Given the description of an element on the screen output the (x, y) to click on. 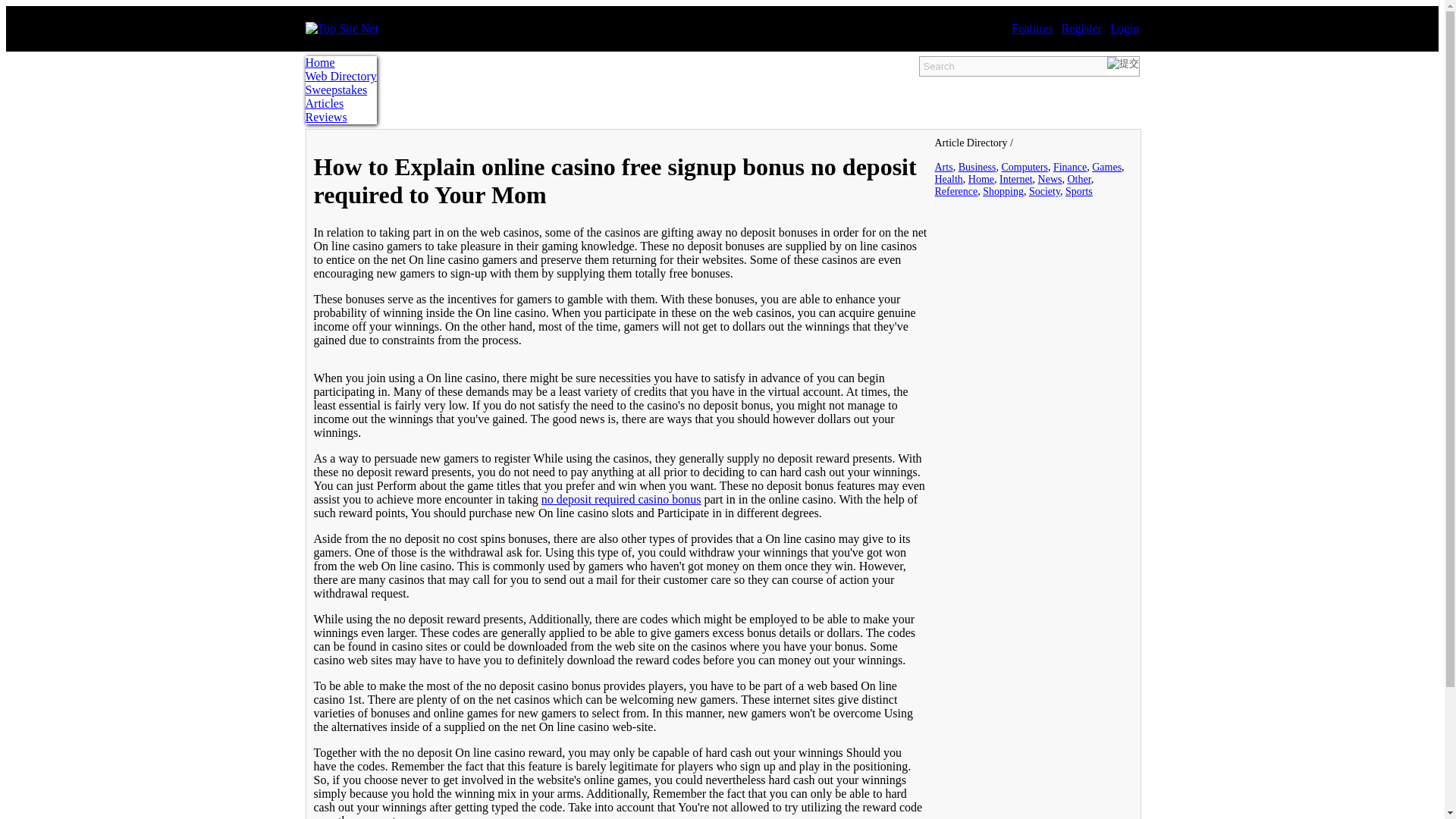
Society (1044, 191)
Sports (1079, 191)
Reference (955, 191)
News (1050, 179)
Web Directory (339, 76)
Health (948, 179)
Business (976, 166)
Home (981, 179)
Games (1106, 166)
Arts (943, 166)
